Given the description of an element on the screen output the (x, y) to click on. 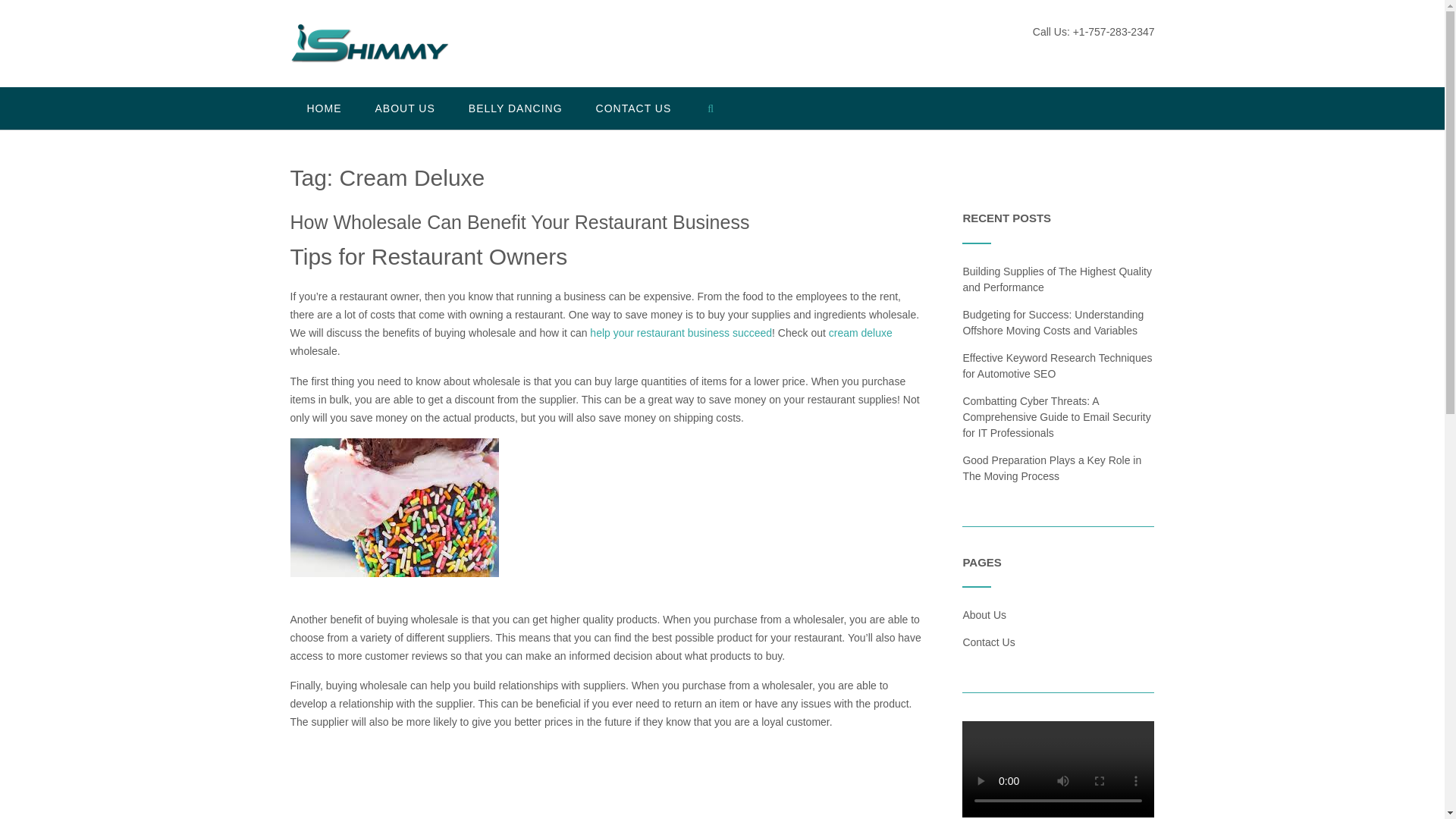
BELLY DANCING (515, 107)
How Wholesale Can Benefit Your Restaurant Business (519, 221)
i Shimmy - Belly Dancing and Middle Eastern Performing Arts (368, 44)
YouTube video player (501, 780)
cream deluxe (860, 332)
Good Preparation Plays a Key Role in The Moving Process (1051, 467)
help your restaurant business succeed (680, 332)
About Us (984, 614)
HOME (323, 107)
CONTACT US (633, 107)
Effective Keyword Research Techniques for Automotive SEO (1056, 366)
ABOUT US (404, 107)
Building Supplies of The Highest Quality and Performance (1056, 279)
Contact Us (988, 642)
